Given the description of an element on the screen output the (x, y) to click on. 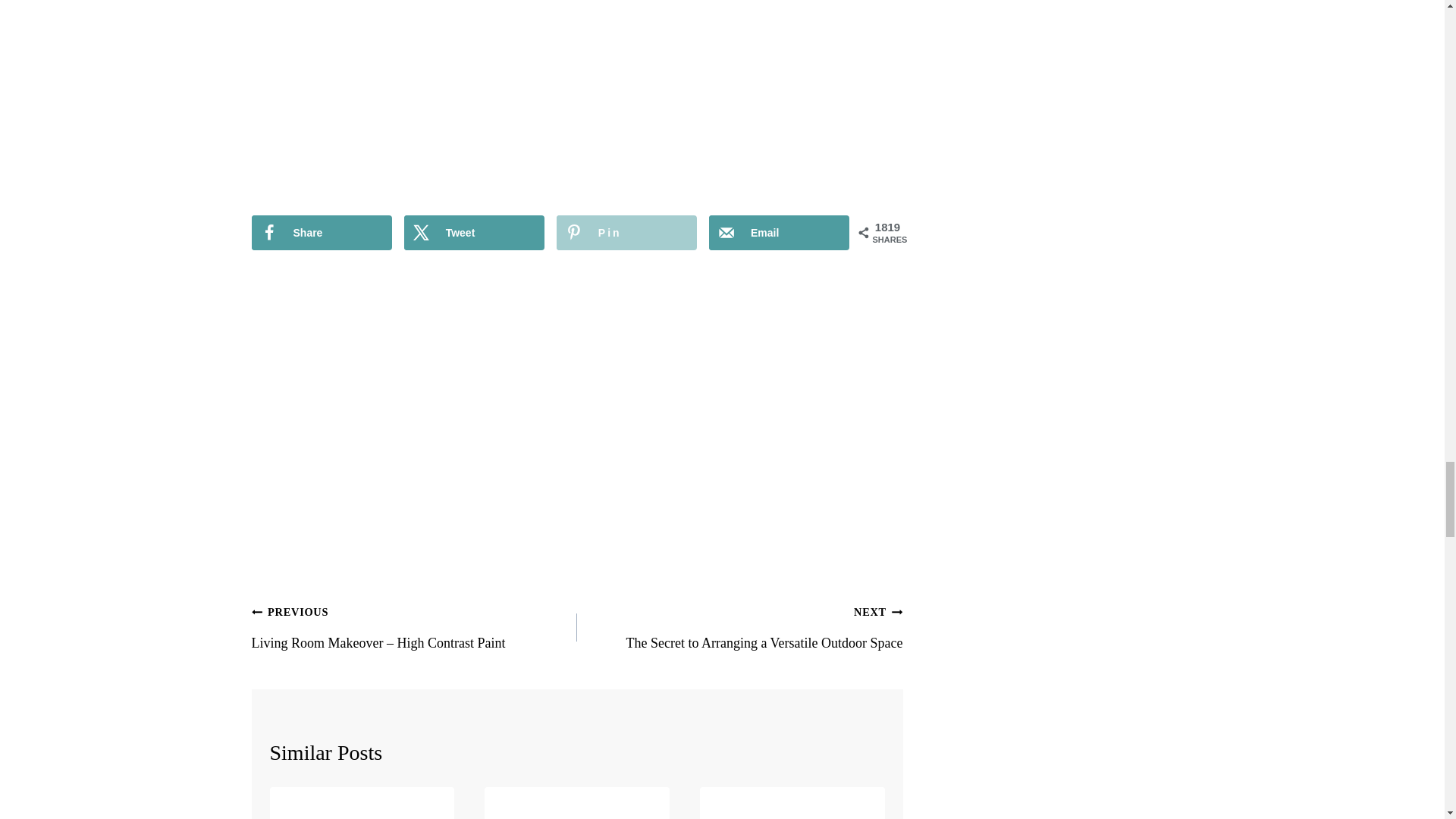
Save to Pinterest (626, 232)
Send over email (778, 232)
Share on Facebook (321, 232)
Share on X (474, 232)
